Given the description of an element on the screen output the (x, y) to click on. 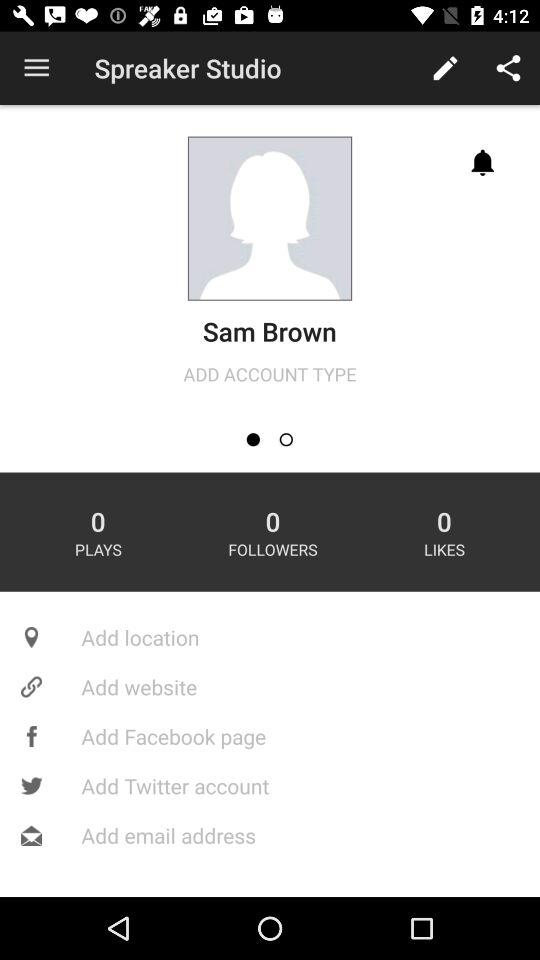
launch the icon above the add website (270, 637)
